Given the description of an element on the screen output the (x, y) to click on. 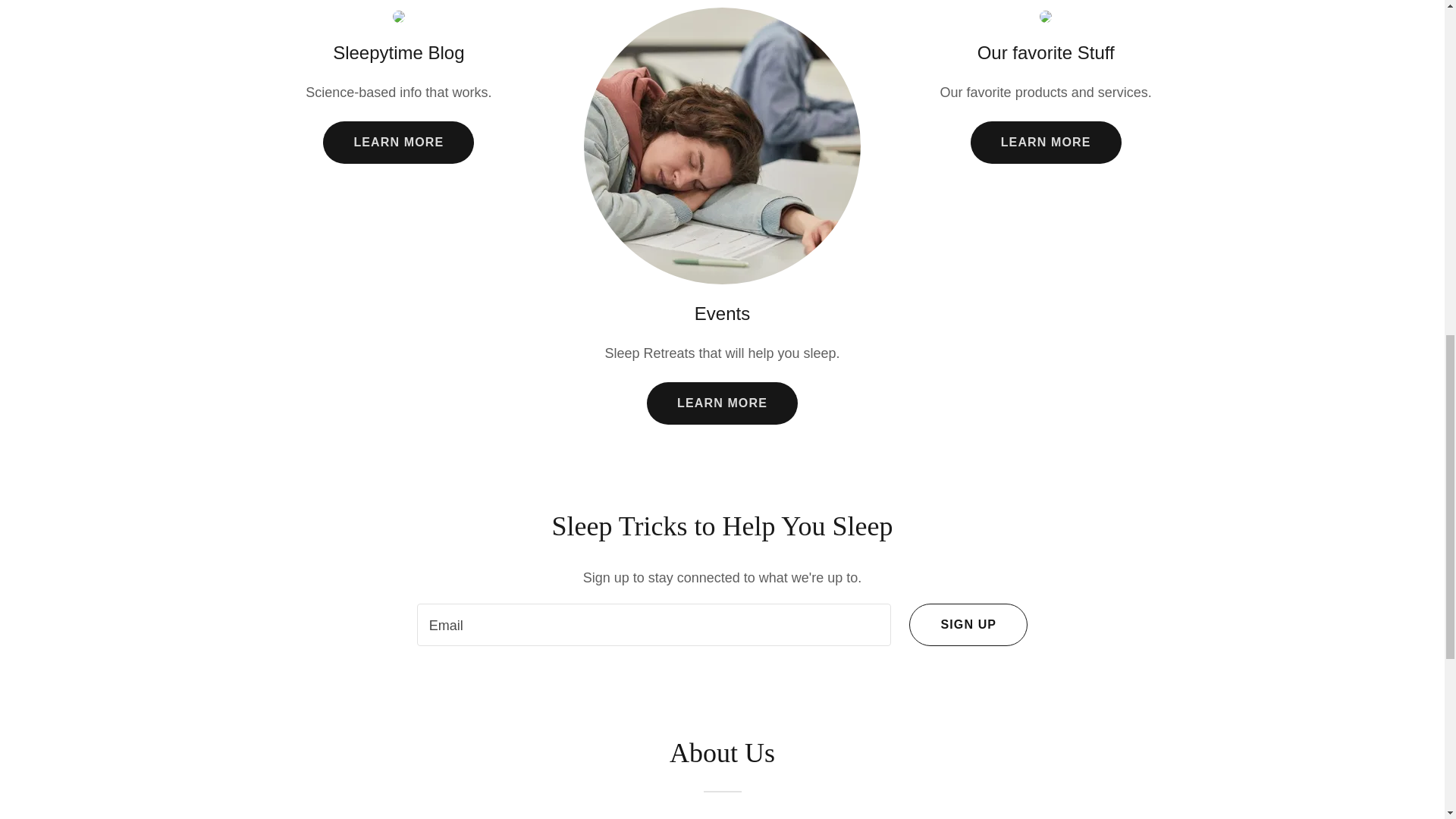
ACCEPT (1274, 324)
LEARN MORE (1046, 142)
SIGN UP (967, 624)
LEARN MORE (721, 403)
LEARN MORE (398, 142)
